Given the description of an element on the screen output the (x, y) to click on. 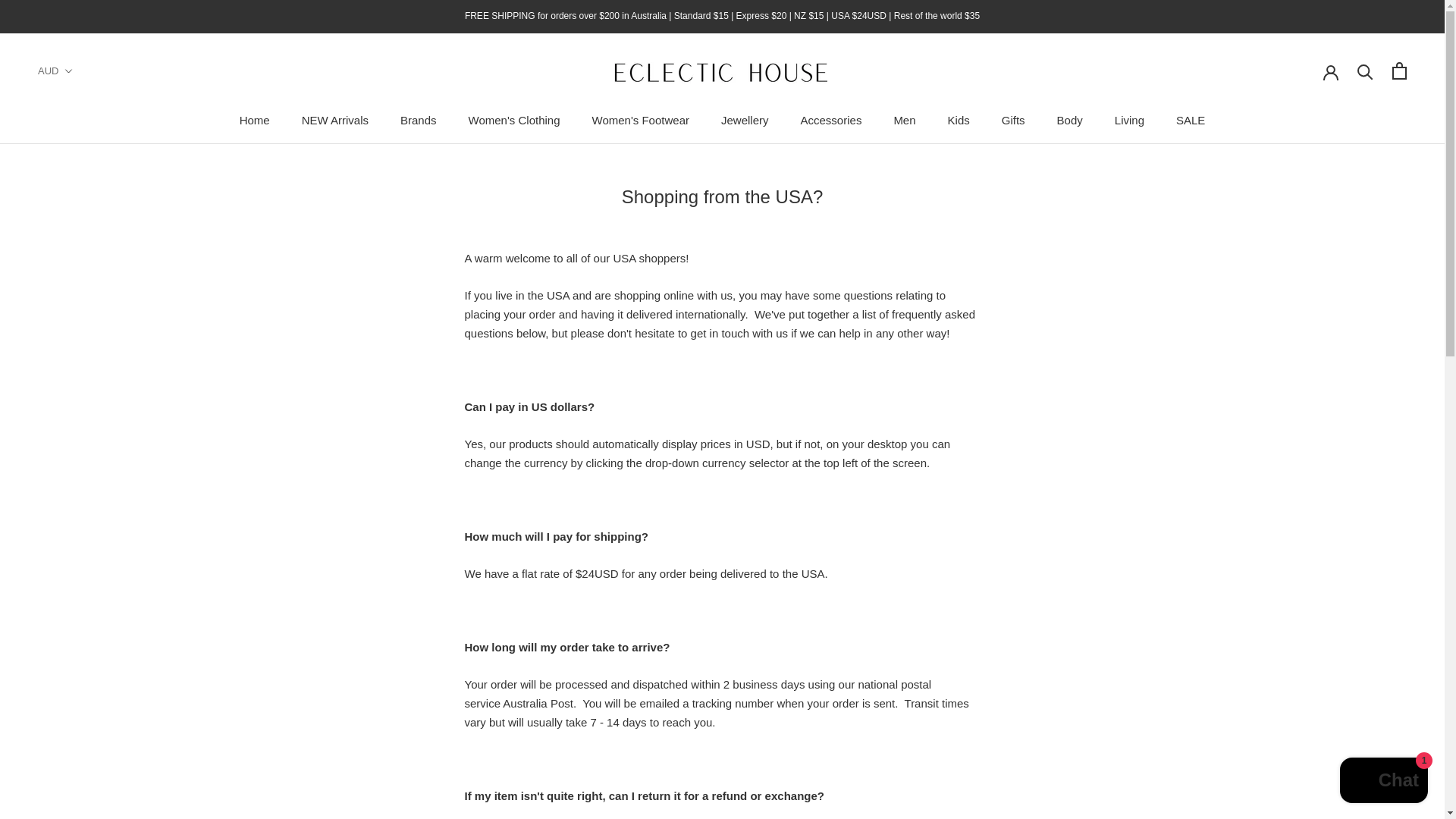
Shopify online store chat (1383, 781)
Currency selector (55, 70)
